Given the description of an element on the screen output the (x, y) to click on. 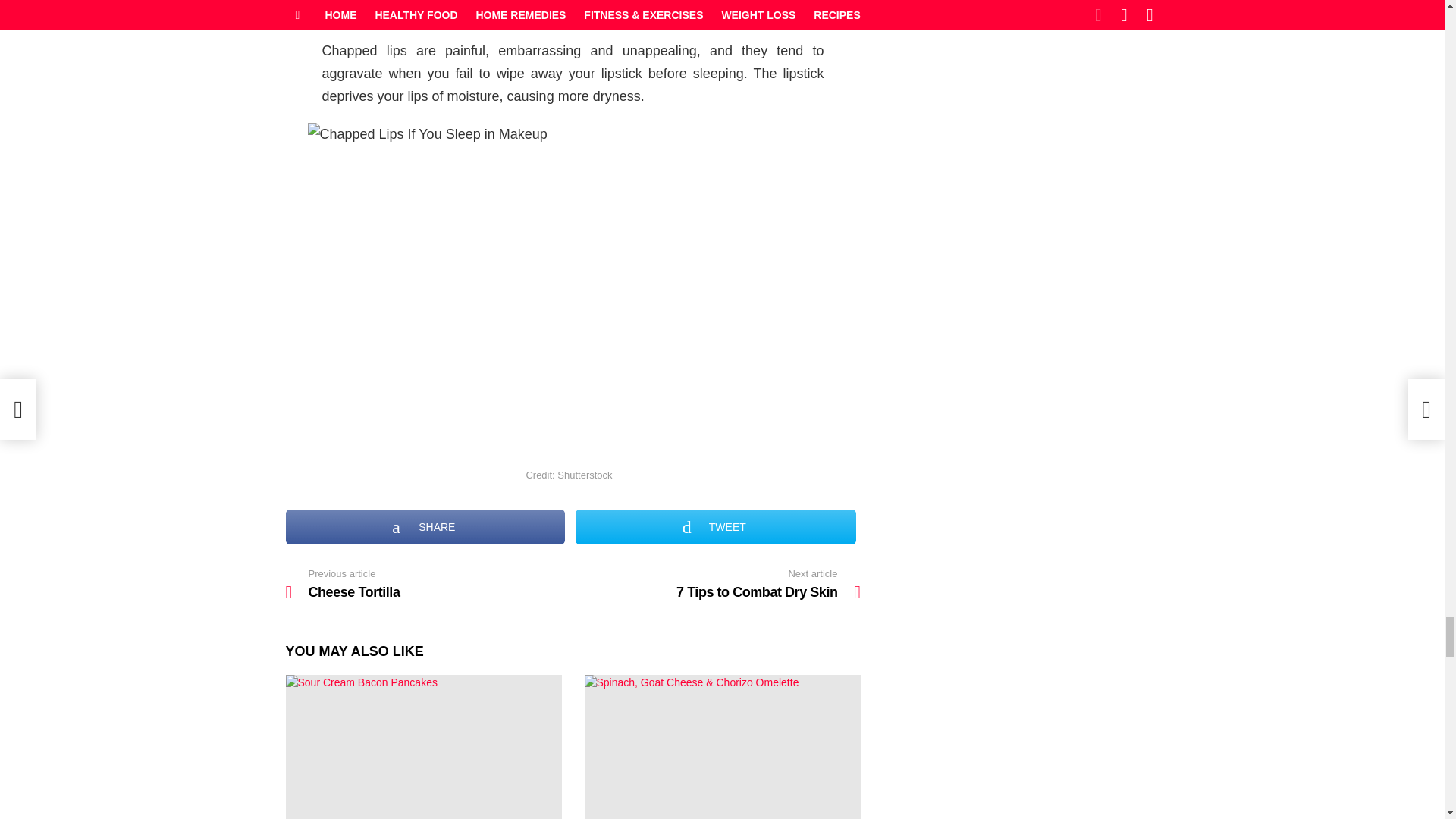
Bacon Pancakes (422, 746)
SHARE (424, 526)
Share on Share (424, 526)
Chorizo Omelette with Spinach and Goat Cheese (721, 746)
TWEET (428, 584)
Share on Tweet (715, 526)
